Given the description of an element on the screen output the (x, y) to click on. 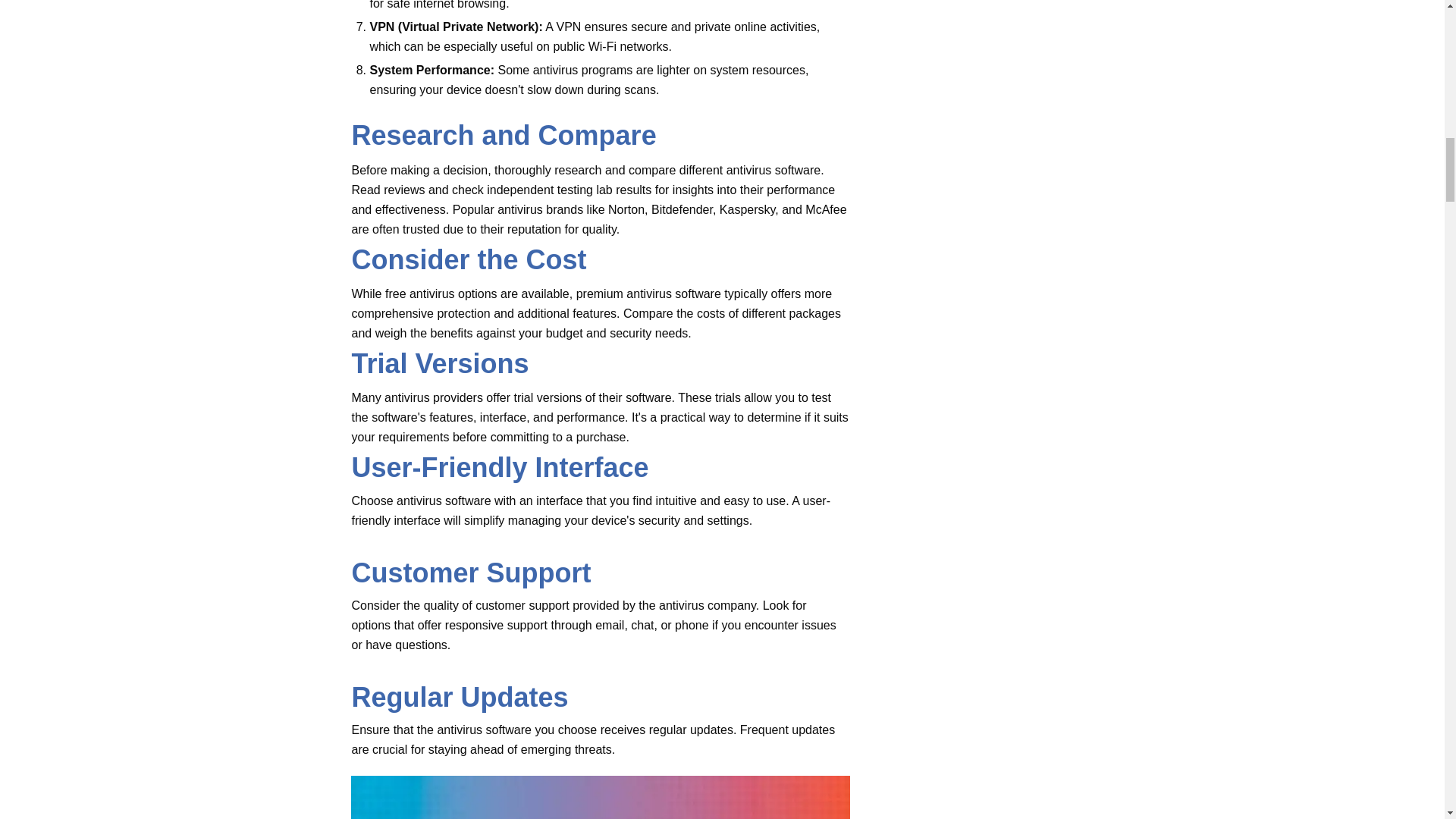
Antivirus Softwares (599, 797)
